Given the description of an element on the screen output the (x, y) to click on. 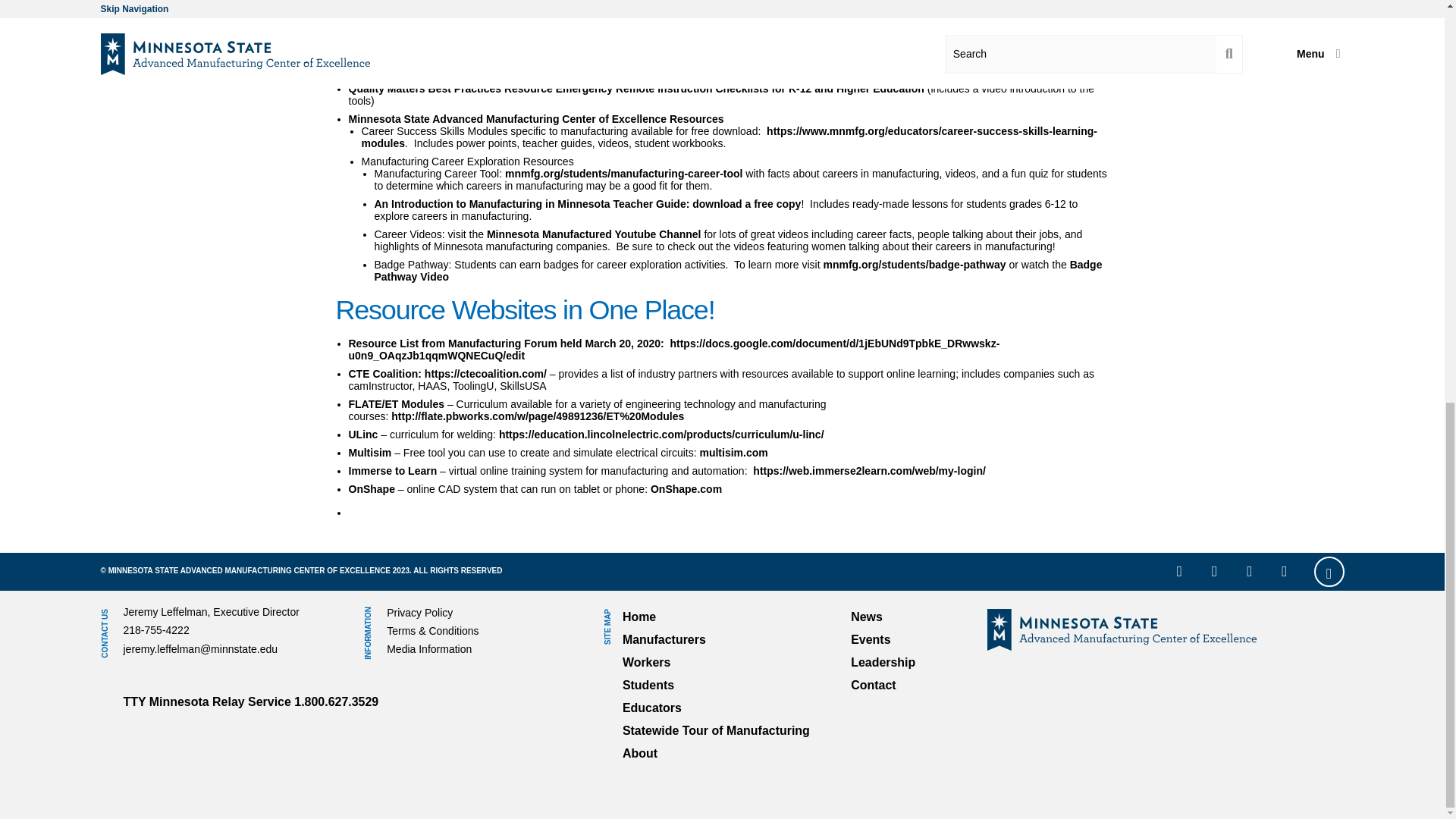
Back to Top (1328, 571)
